Given the description of an element on the screen output the (x, y) to click on. 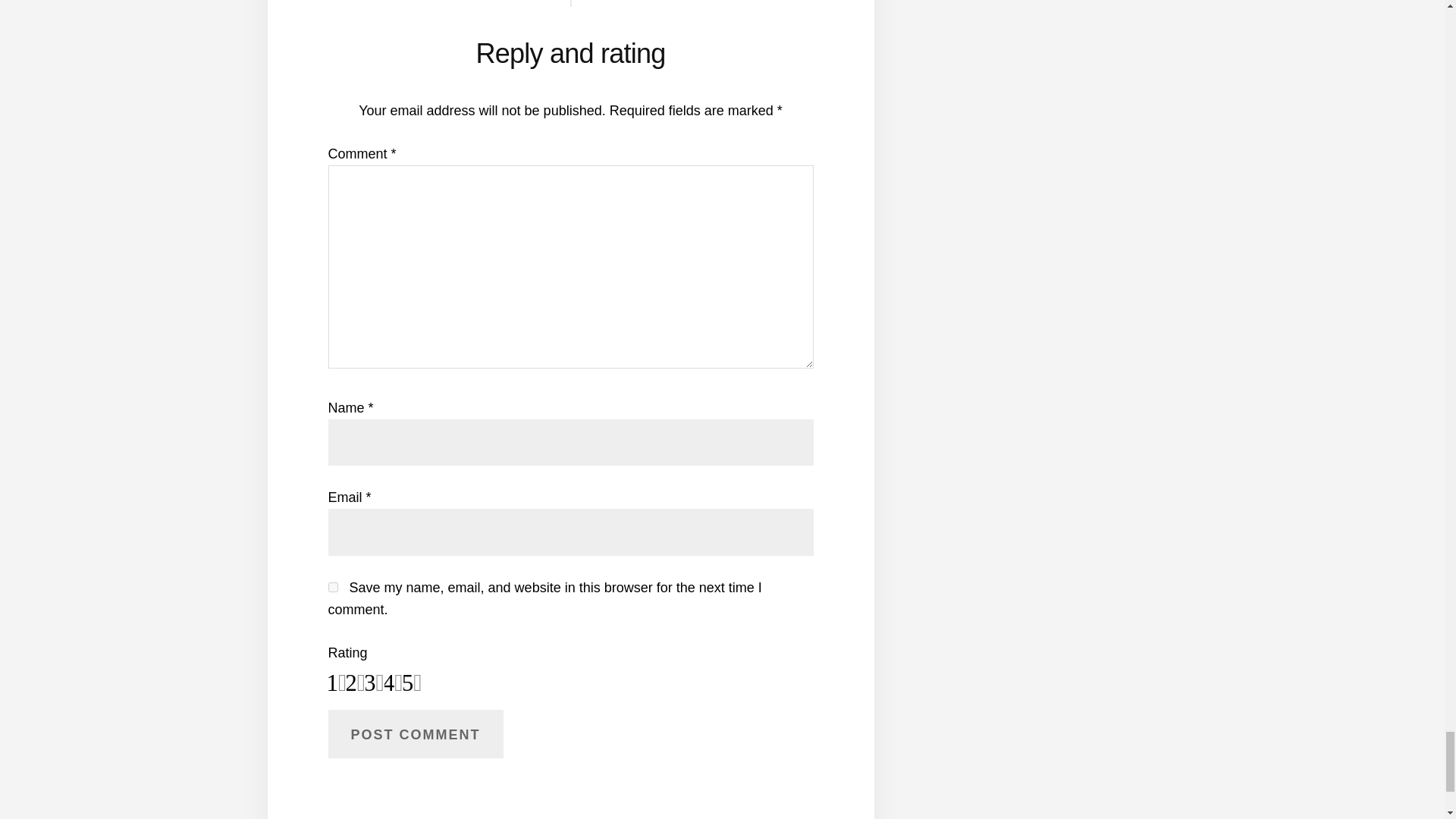
Post Comment (414, 734)
yes (332, 587)
